Given the description of an element on the screen output the (x, y) to click on. 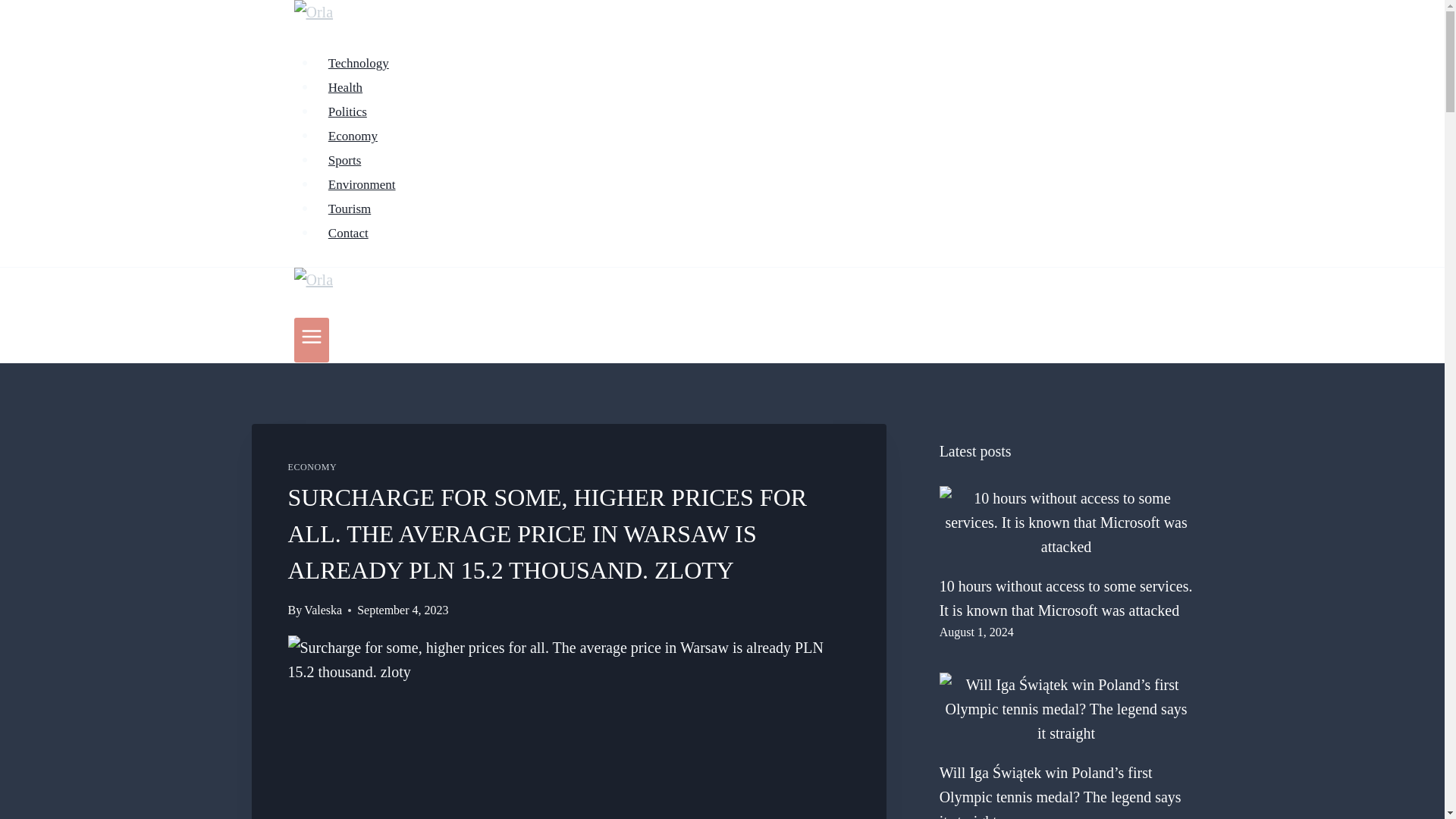
Technology (359, 62)
August 1, 2024 (976, 631)
Environment (362, 184)
Contact (348, 233)
Politics (347, 111)
ECONOMY (312, 466)
Health (345, 87)
Sports (344, 160)
7:26 am (976, 631)
Economy (353, 135)
Tourism (349, 208)
